Given the description of an element on the screen output the (x, y) to click on. 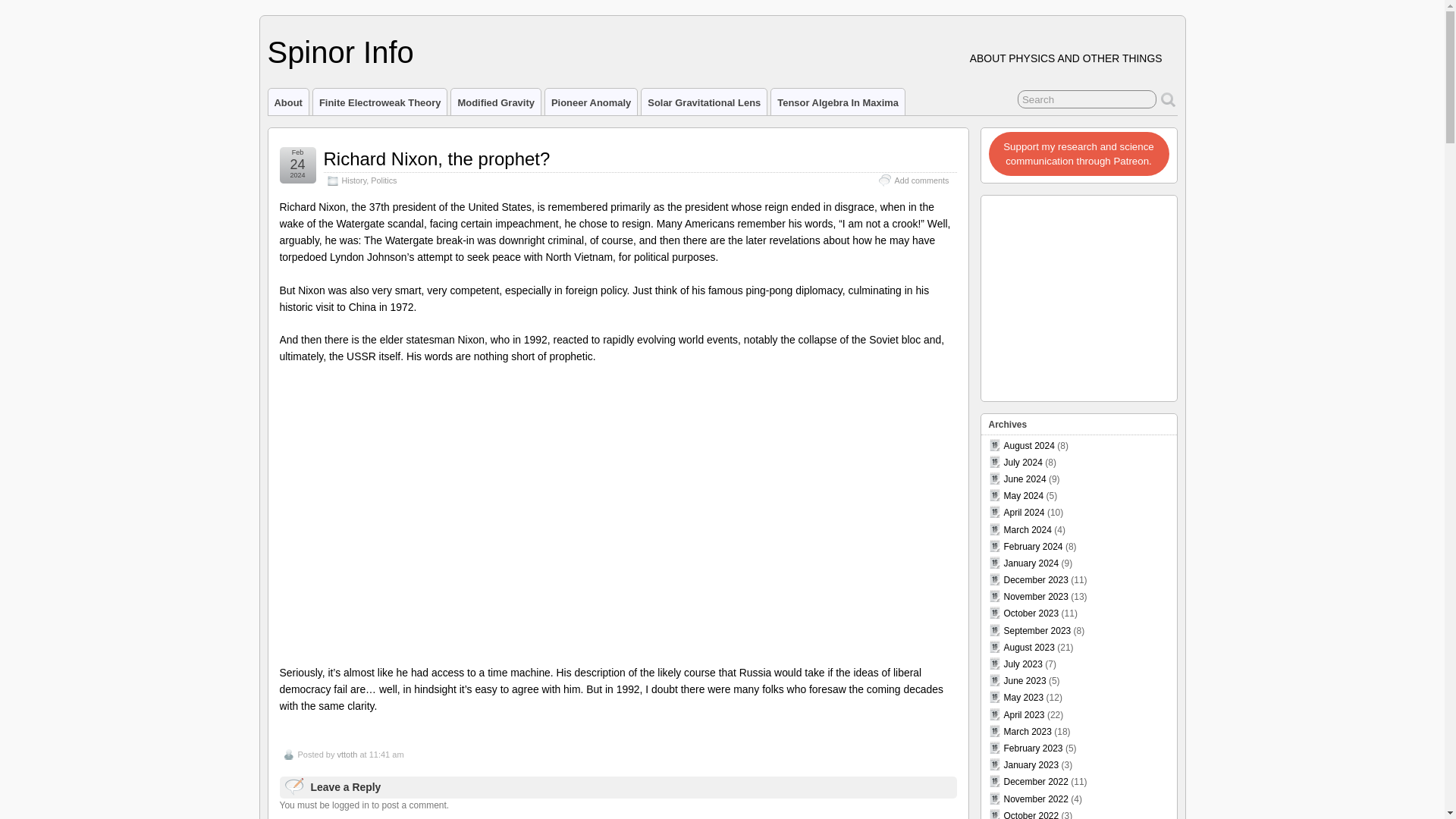
Finite Electroweak Theory (379, 101)
September 2023 (1037, 630)
June 2024 (1025, 479)
December 2023 (1036, 579)
YouTube video player (617, 516)
May 2024 (1023, 495)
Pioneer Anomaly (590, 101)
October 2023 (1031, 613)
vttoth (346, 754)
August 2023 (1029, 647)
